Given the description of an element on the screen output the (x, y) to click on. 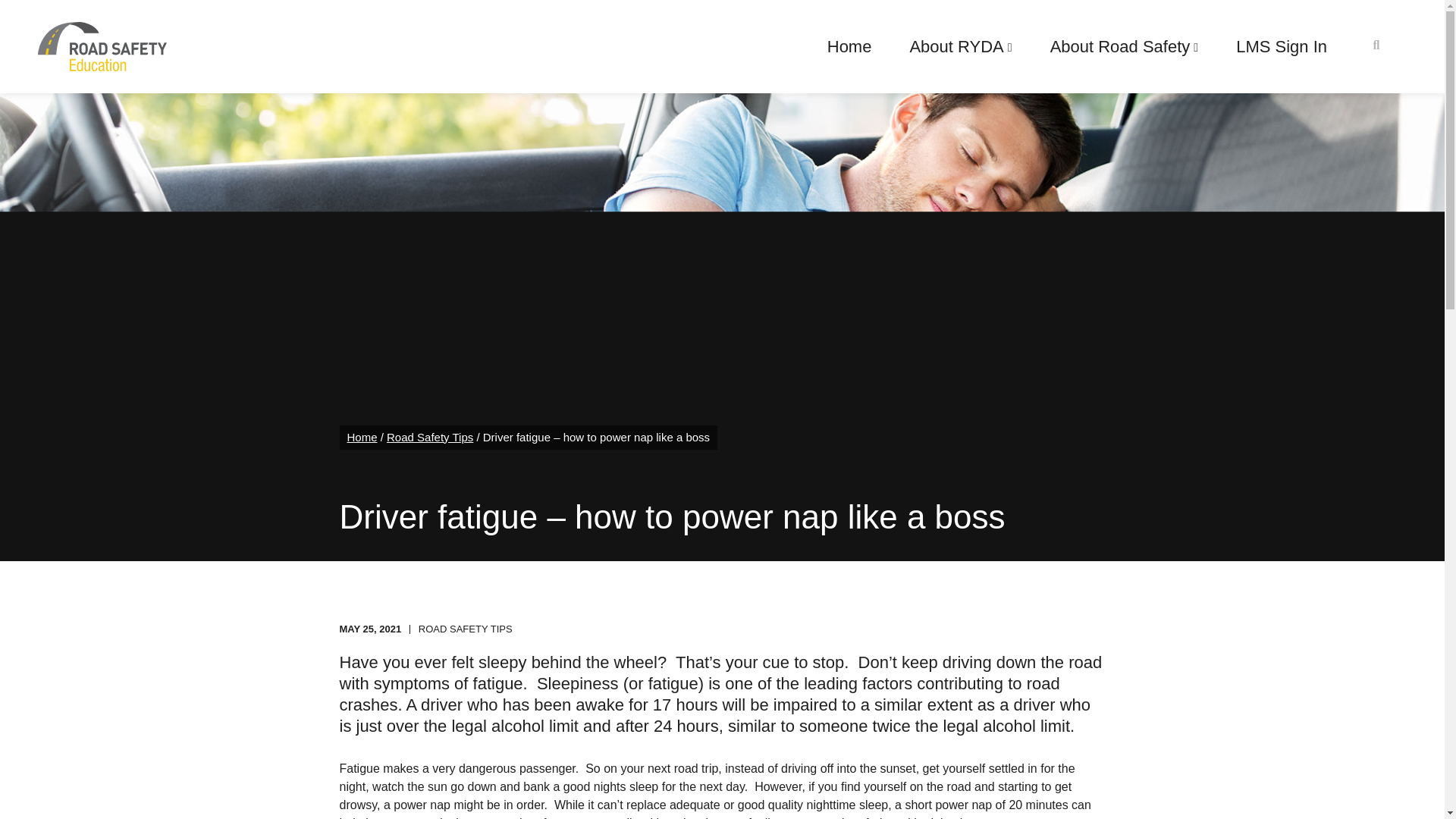
About Road Safety (1123, 46)
About RYDA (959, 46)
Road Safety Tips (430, 436)
Home (362, 436)
Road Safety Education (102, 46)
Search (39, 18)
LMS Sign In (1281, 46)
